Given the description of an element on the screen output the (x, y) to click on. 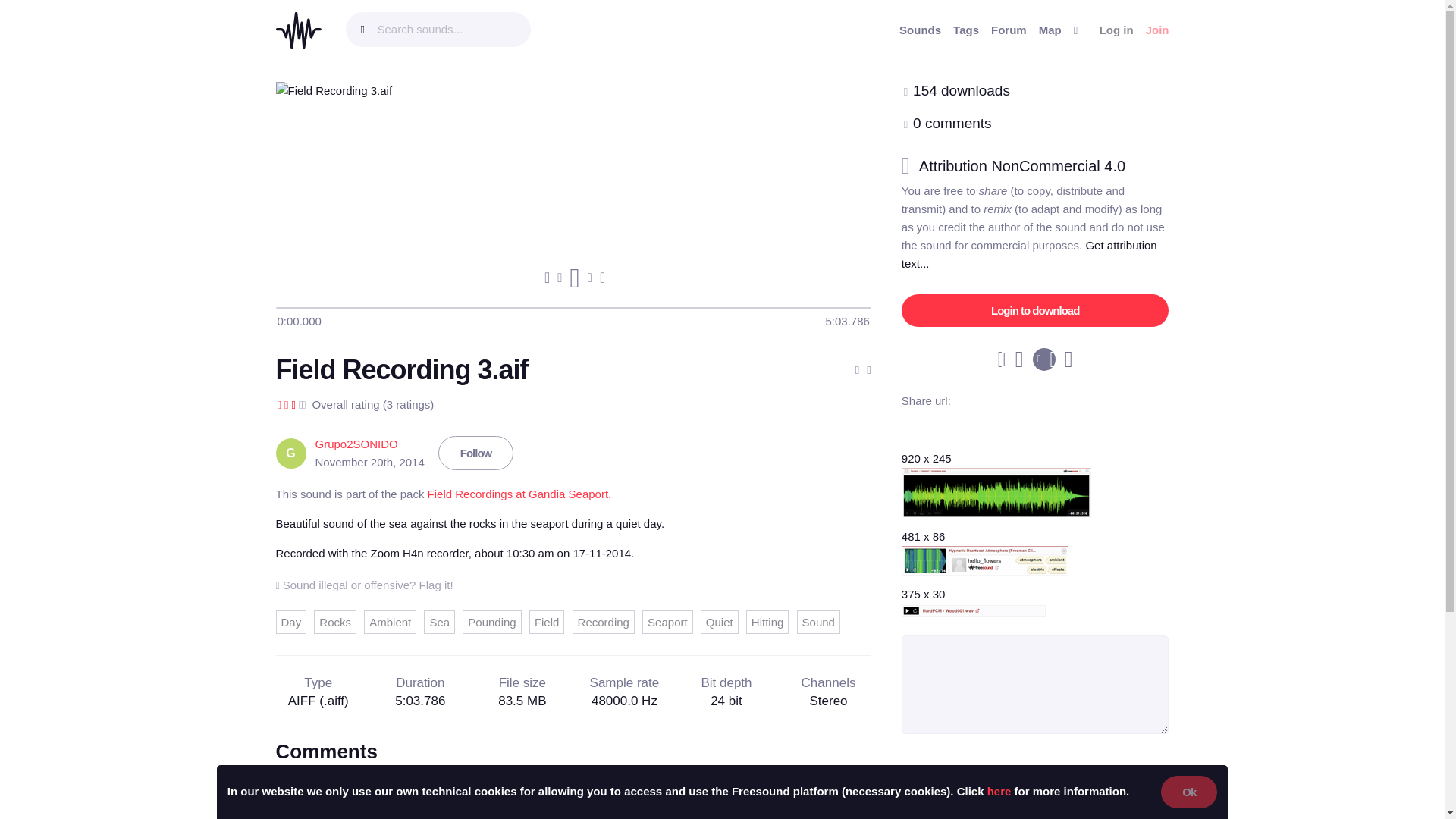
Grupo2SONIDO (356, 443)
Tags (965, 30)
This sound has been downloaded 154 times (961, 90)
Sound illegal or offensive? Flag it! (364, 584)
Sounds (919, 30)
here (999, 790)
Ok (1188, 791)
Field Recordings at Gandia Seaport. (519, 493)
Join (1157, 29)
Go to the full license text (1030, 166)
